Given the description of an element on the screen output the (x, y) to click on. 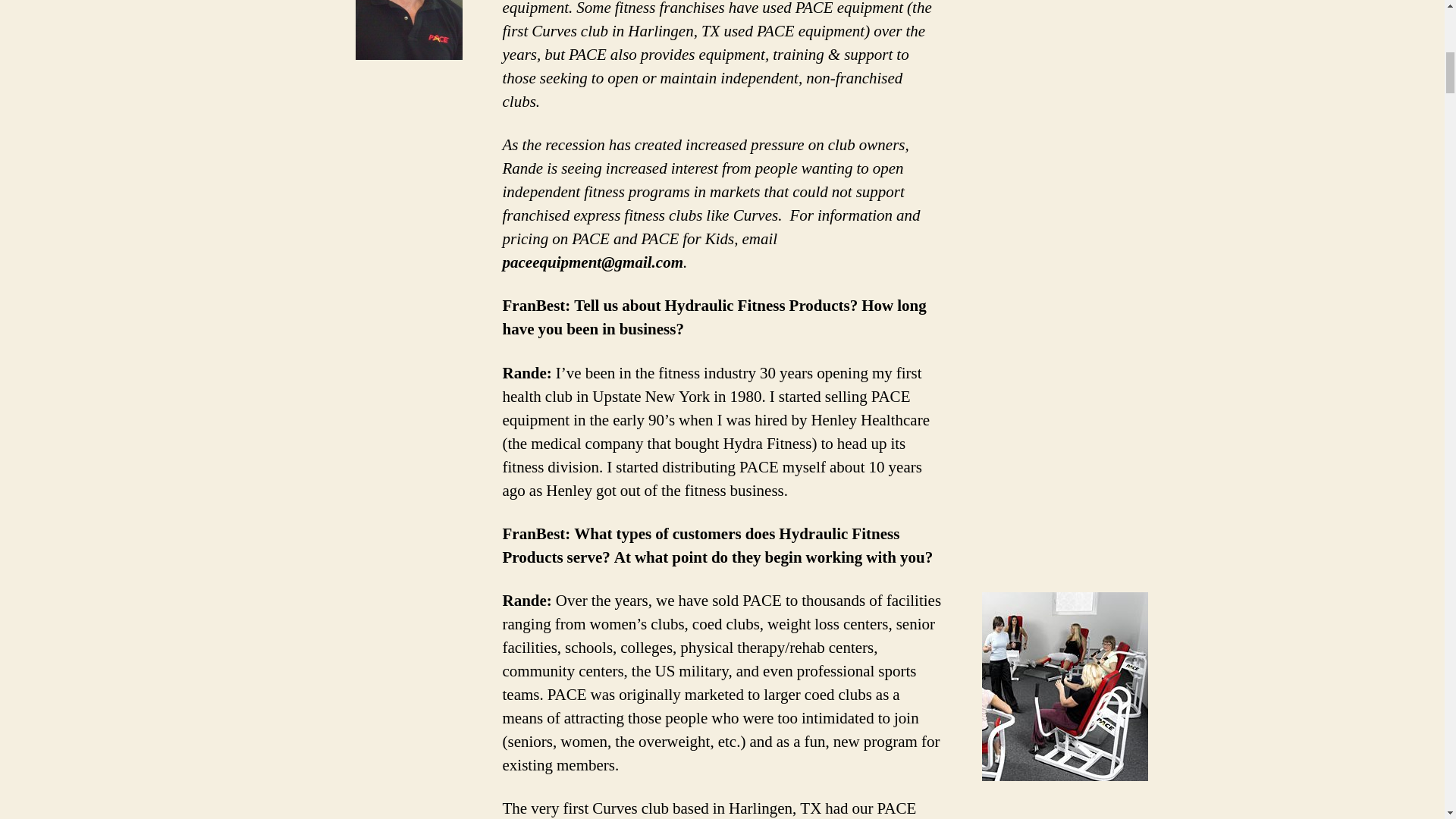
Rande 141 (409, 29)
